Given the description of an element on the screen output the (x, y) to click on. 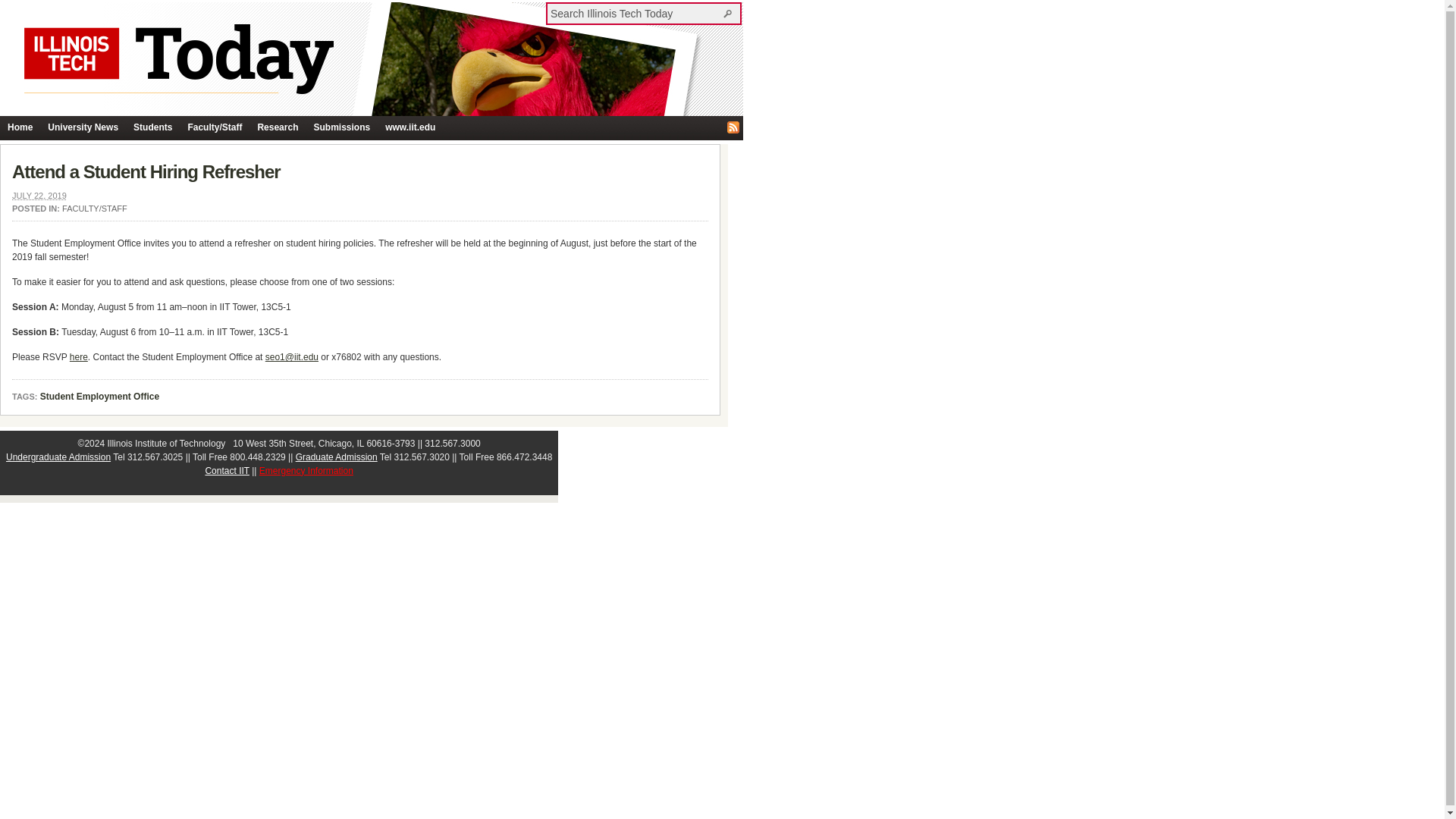
Undergraduate Admission (57, 457)
www.iit.edu (409, 127)
University News (82, 127)
Contact IIT (226, 470)
Search (729, 13)
Search Illinois Tech Today (729, 13)
Student Employment Office (99, 397)
Attend a Student Hiring Refresher (146, 171)
Search Illinois Tech Today (636, 13)
Emergency Information (306, 470)
Contact IIT (226, 470)
2019-07-22T15:07:33-05:00 (38, 194)
Home (20, 127)
RSS Feed (732, 127)
Research (276, 127)
